Given the description of an element on the screen output the (x, y) to click on. 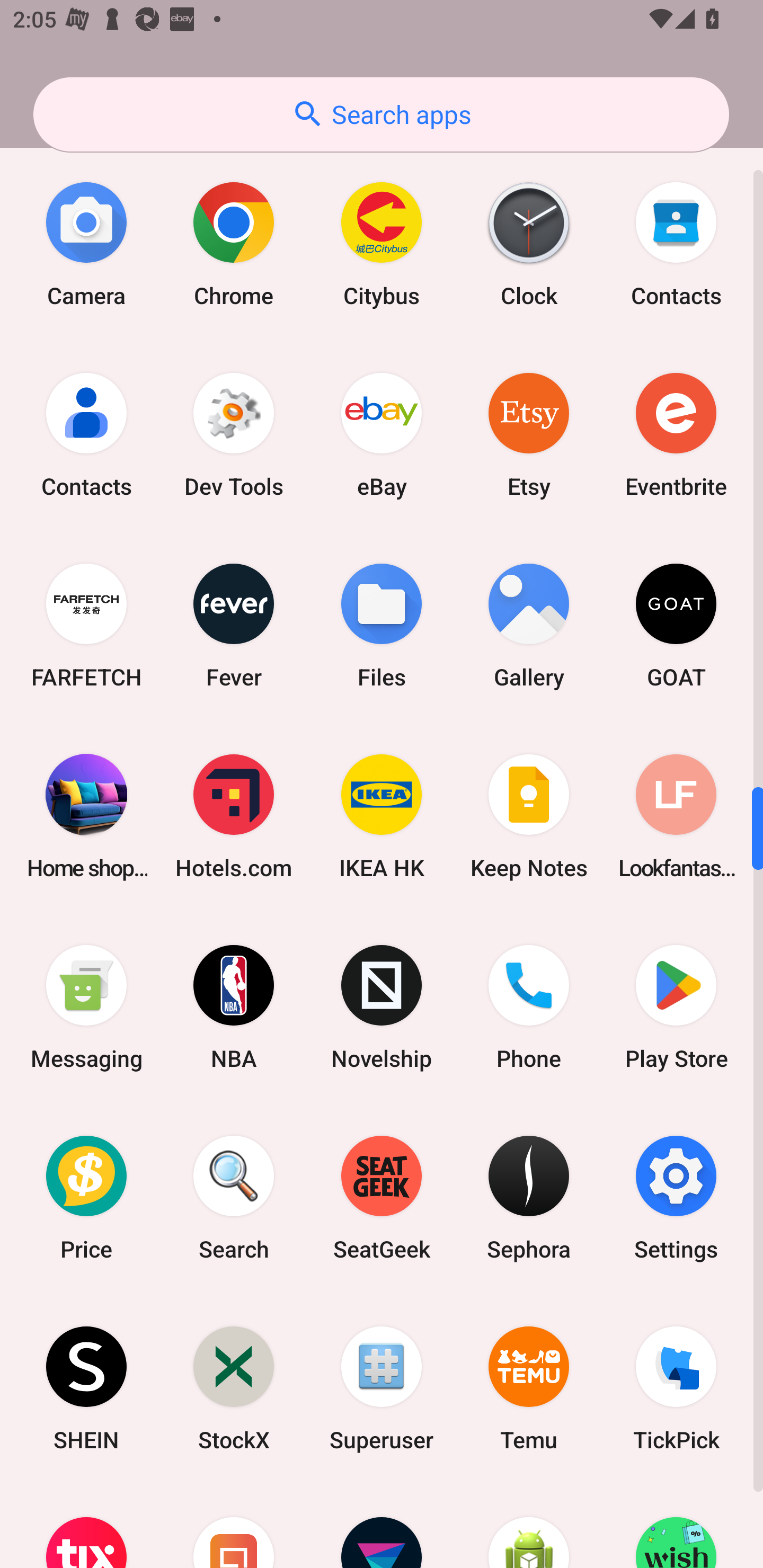
  Search apps (381, 114)
Camera (86, 244)
Chrome (233, 244)
Citybus (381, 244)
Clock (528, 244)
Contacts (676, 244)
Contacts (86, 434)
Dev Tools (233, 434)
eBay (381, 434)
Etsy (528, 434)
Eventbrite (676, 434)
FARFETCH (86, 625)
Fever (233, 625)
Files (381, 625)
Gallery (528, 625)
GOAT (676, 625)
Home shopping (86, 816)
Hotels.com (233, 816)
IKEA HK (381, 816)
Keep Notes (528, 816)
Lookfantastic (676, 816)
Messaging (86, 1006)
NBA (233, 1006)
Novelship (381, 1006)
Phone (528, 1006)
Play Store (676, 1006)
Price (86, 1197)
Search (233, 1197)
SeatGeek (381, 1197)
Sephora (528, 1197)
Settings (676, 1197)
SHEIN (86, 1388)
StockX (233, 1388)
Superuser (381, 1388)
Temu (528, 1388)
TickPick (676, 1388)
